Given the description of an element on the screen output the (x, y) to click on. 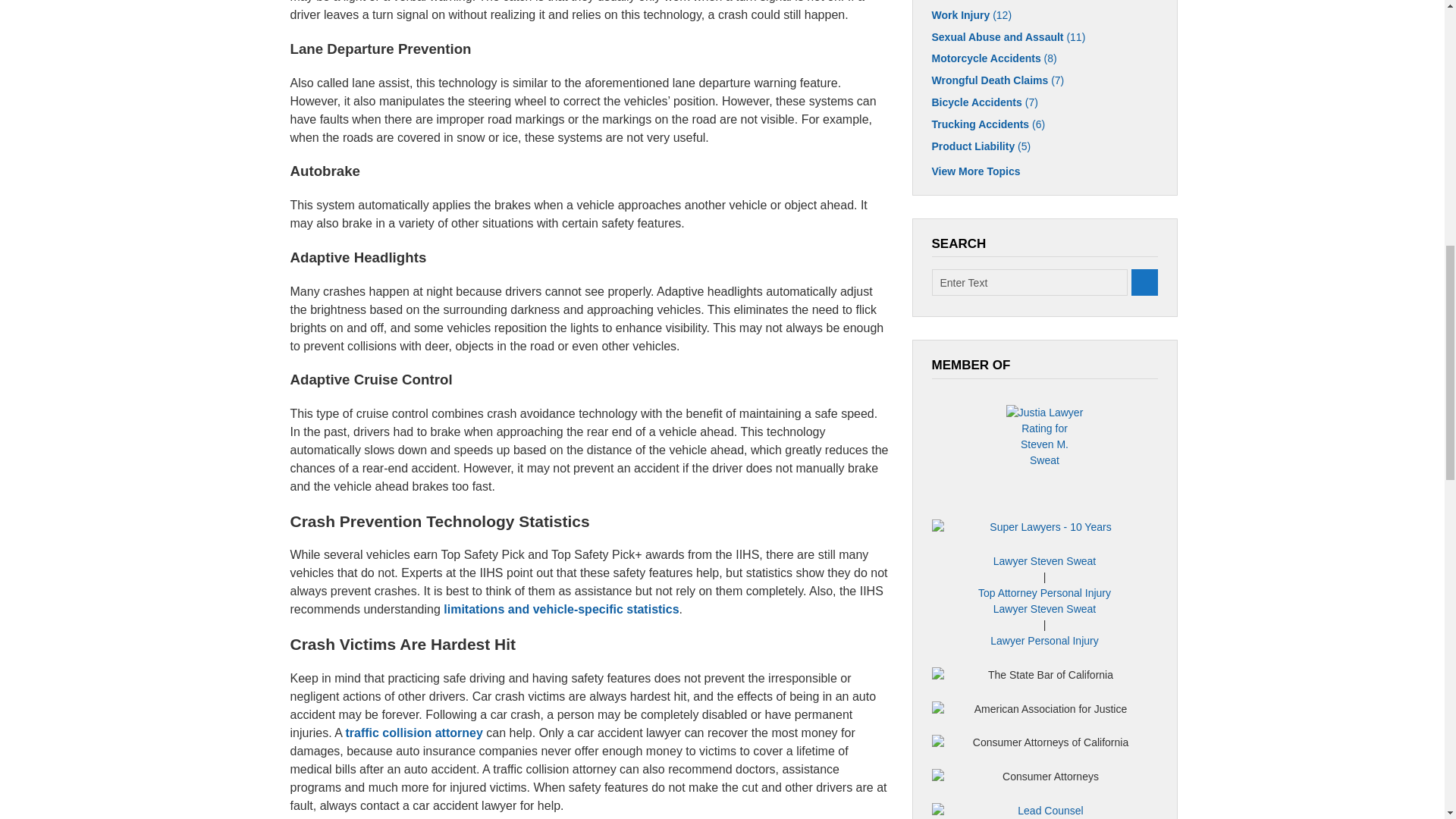
traffic collision attorney (413, 732)
Traffic Accident Lawyer Los Angeles (413, 732)
limitations and vehicle-specific statistics (561, 608)
